Given the description of an element on the screen output the (x, y) to click on. 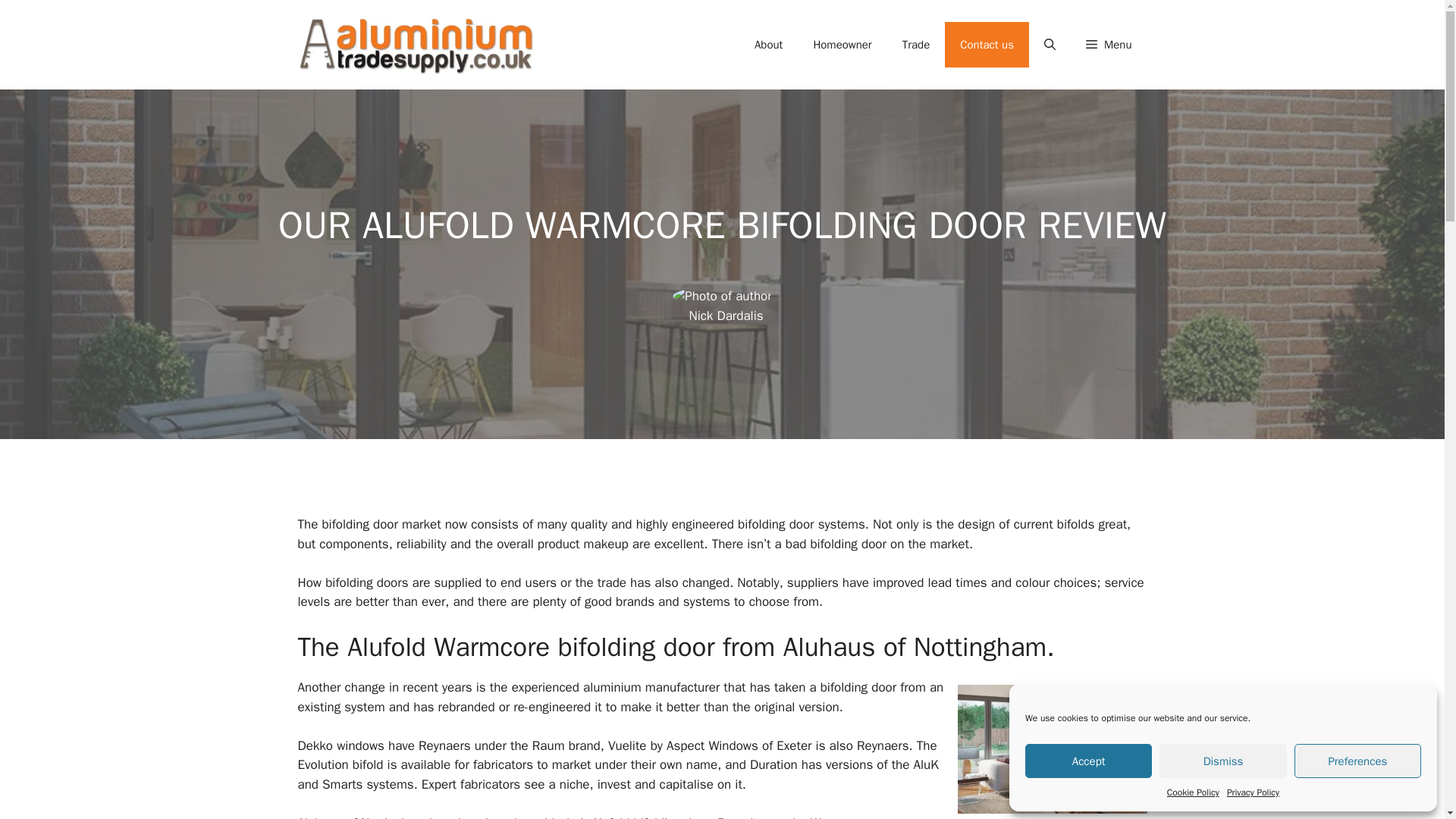
our alufold warmcore bifolding door review 1 (1051, 749)
Cookie Policy (1193, 792)
Contact us (986, 44)
Accept (1088, 760)
Menu (1108, 44)
Privacy Policy (1253, 792)
Trade (915, 44)
Homeowner (841, 44)
Preferences (1357, 760)
Dismiss (1221, 760)
About (768, 44)
